Given the description of an element on the screen output the (x, y) to click on. 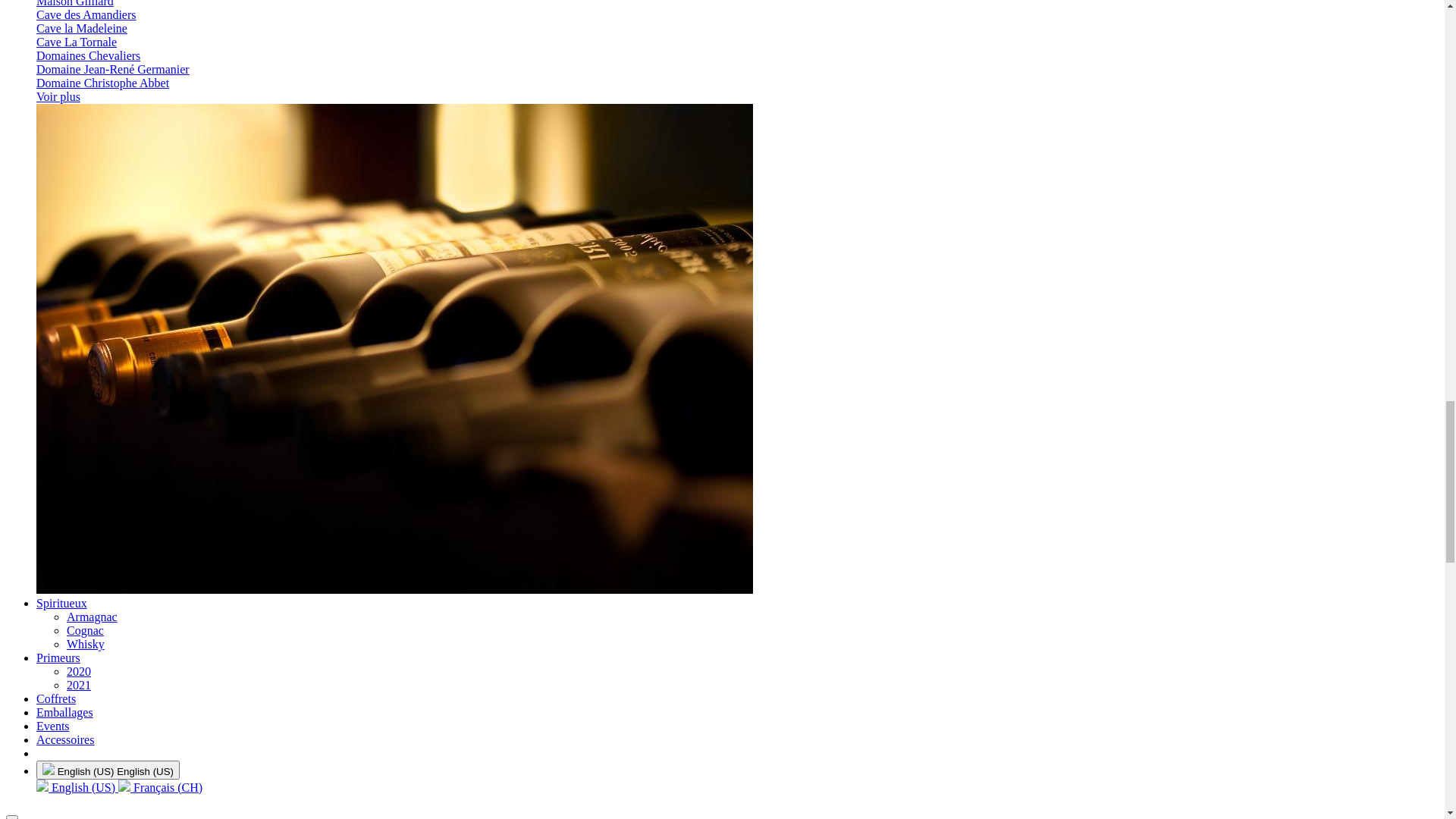
France Element type: text (52, 628)
Gosset Element type: text (52, 478)
Magnum Element type: text (58, 533)
Bouteille Element type: text (58, 519)
Marque Element type: text (54, 464)
Domaine Nudant Element type: text (77, 778)
Voir plus Element type: text (58, 792)
Categories Element type: text (95, 125)
Charpentier Element type: text (65, 492)
Search Element type: hover (12, 158)
Format Element type: text (53, 505)
Champagnes Element type: text (67, 451)
Blogs Element type: text (139, 125)
Domaine Jacques Prieur Element type: text (95, 765)
shop Element type: text (47, 437)
Products Element type: text (45, 125)
All Element type: text (13, 111)
Bourgogne Element type: text (60, 642)
Blanc de Blancs Element type: text (75, 601)
English (US) Element type: text (46, 84)
0 Element type: text (25, 184)
Domaine Faiveley Element type: text (80, 751)
Alain Burguet Element type: text (70, 655)
Berthaudin SA Element type: hover (63, 97)
All Element type: text (13, 125)
Style Element type: text (47, 560)
Brut Element type: text (46, 587)
0 Element type: text (25, 202)
Bordeaux Element type: text (58, 806)
Christophe Camu Element type: text (78, 737)
English (US) English (US) Element type: text (77, 66)
Billaud-Simon Element type: text (71, 669)
Producteur Element type: text (100, 257)
